Given the description of an element on the screen output the (x, y) to click on. 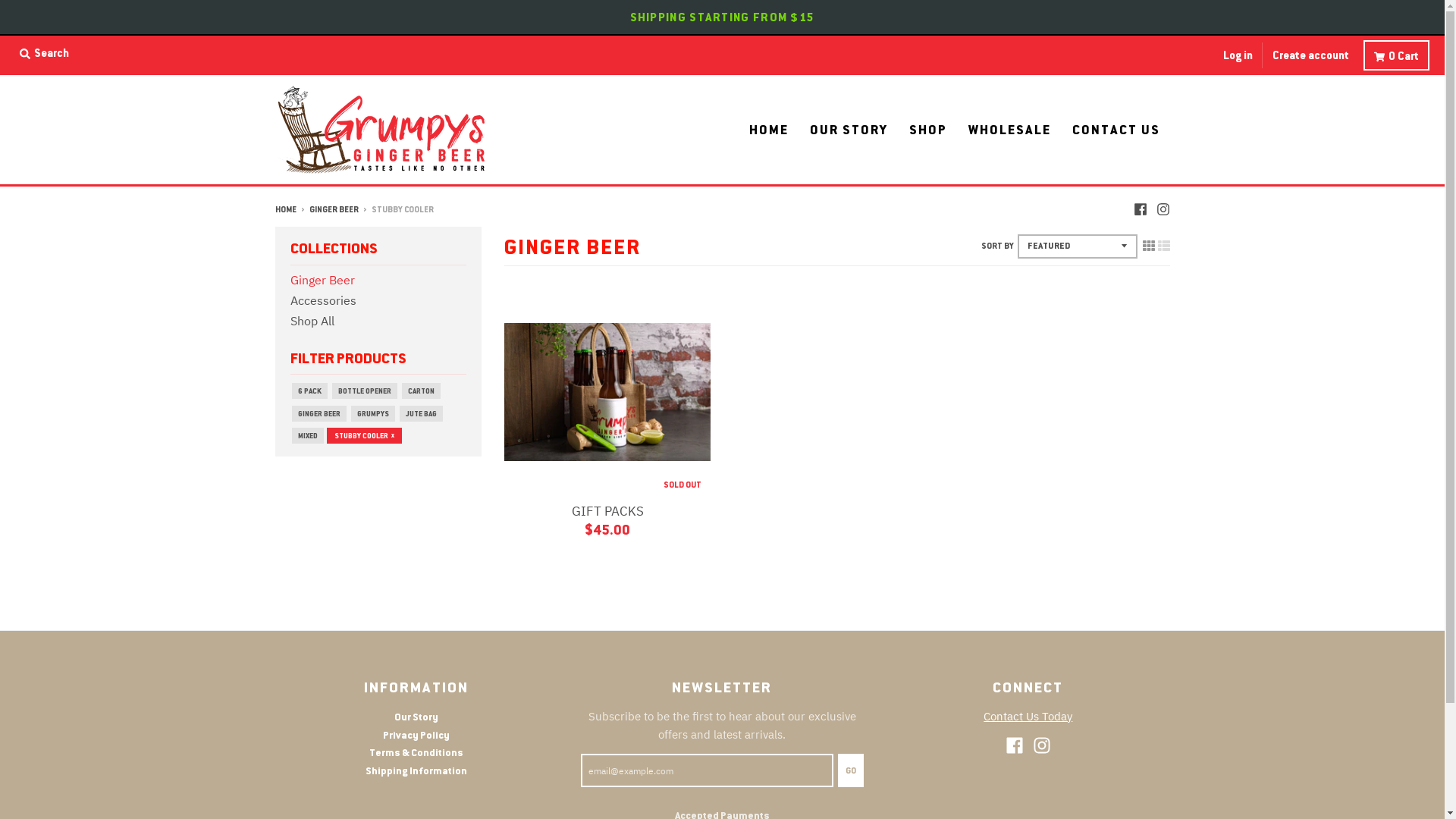
Contact Us Today Element type: text (1027, 716)
Facebook - Grumpy's Ginger Beer Element type: hover (1139, 208)
Accessories Element type: text (322, 299)
BOTTLE OPENER Element type: text (364, 390)
WHOLESALE Element type: text (1009, 129)
GINGER BEER Element type: text (333, 208)
Shipping Information Element type: text (416, 770)
Log in Element type: text (1237, 55)
6 PACK Element type: text (308, 390)
Create account Element type: text (1310, 55)
GO Element type: text (850, 770)
CONTACT US Element type: text (1115, 129)
List view Element type: hover (1163, 245)
Shop All Element type: text (311, 320)
GIFT PACKS Element type: text (607, 510)
Instagram - Grumpy's Ginger Beer Element type: hover (1162, 208)
Search Element type: text (44, 52)
OUR STORY Element type: text (848, 129)
HOME Element type: text (767, 129)
Privacy Policy Element type: text (415, 734)
STUBBY COOLER Element type: text (363, 435)
JUTE BAG Element type: text (420, 413)
CARTON Element type: text (421, 390)
SOLD OUT Element type: text (607, 391)
Our Story Element type: text (416, 716)
Grid view Element type: hover (1148, 245)
Facebook - Grumpy's Ginger Beer Element type: hover (1014, 744)
GRUMPYS Element type: text (371, 413)
SHOP Element type: text (928, 129)
MIXED Element type: text (306, 435)
Instagram - Grumpy's Ginger Beer Element type: hover (1041, 744)
Ginger Beer Element type: text (321, 279)
0 Cart Element type: text (1396, 55)
Terms & Conditions Element type: text (416, 752)
HOME Element type: text (284, 208)
GINGER BEER Element type: text (318, 413)
